Given the description of an element on the screen output the (x, y) to click on. 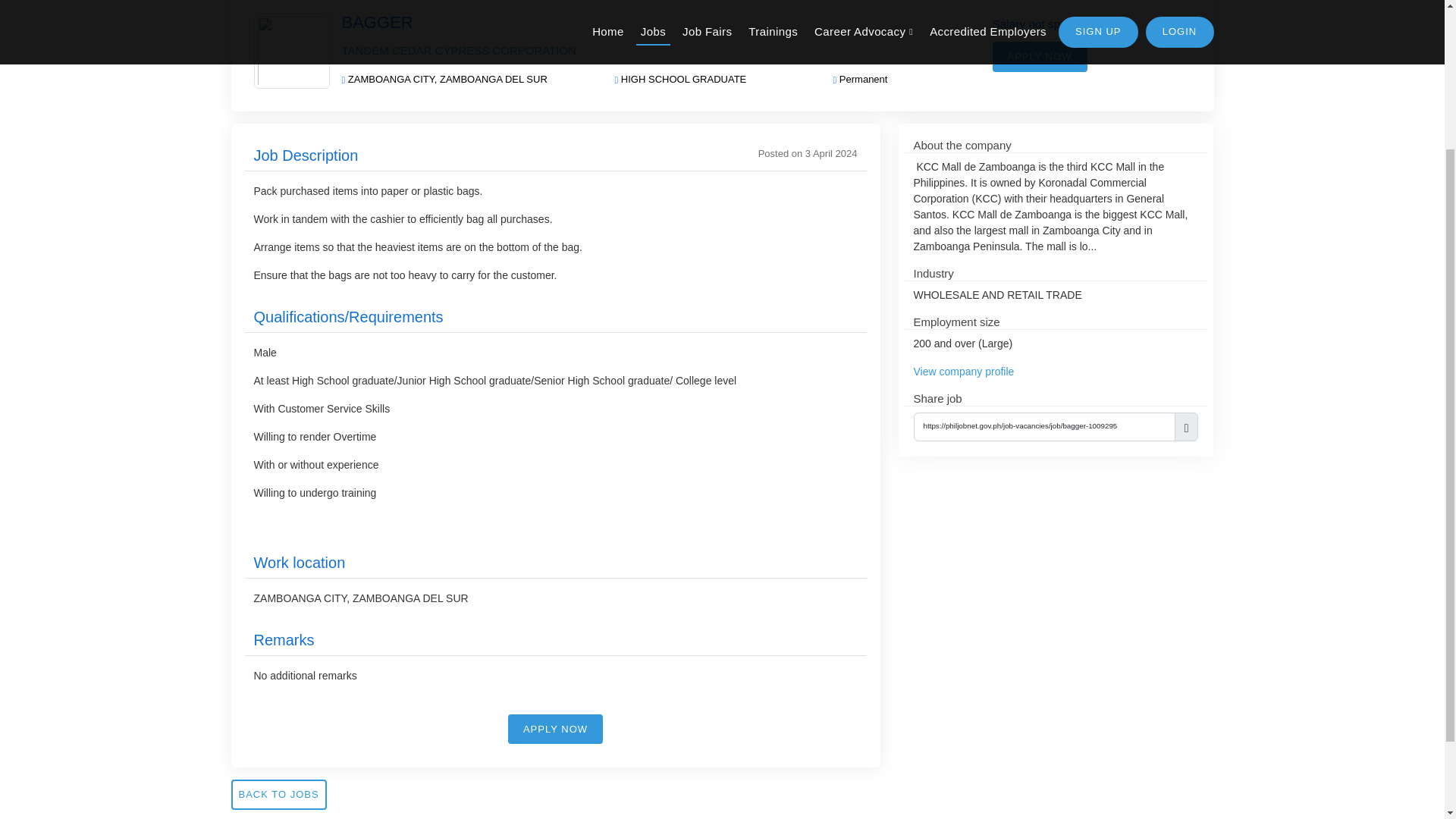
View company profile (962, 371)
APPLY NOW (555, 729)
TANDEM CEDAR CYPRESS CORPORATION (457, 50)
APPLY NOW (1038, 56)
BACK TO JOBS (278, 794)
